Given the description of an element on the screen output the (x, y) to click on. 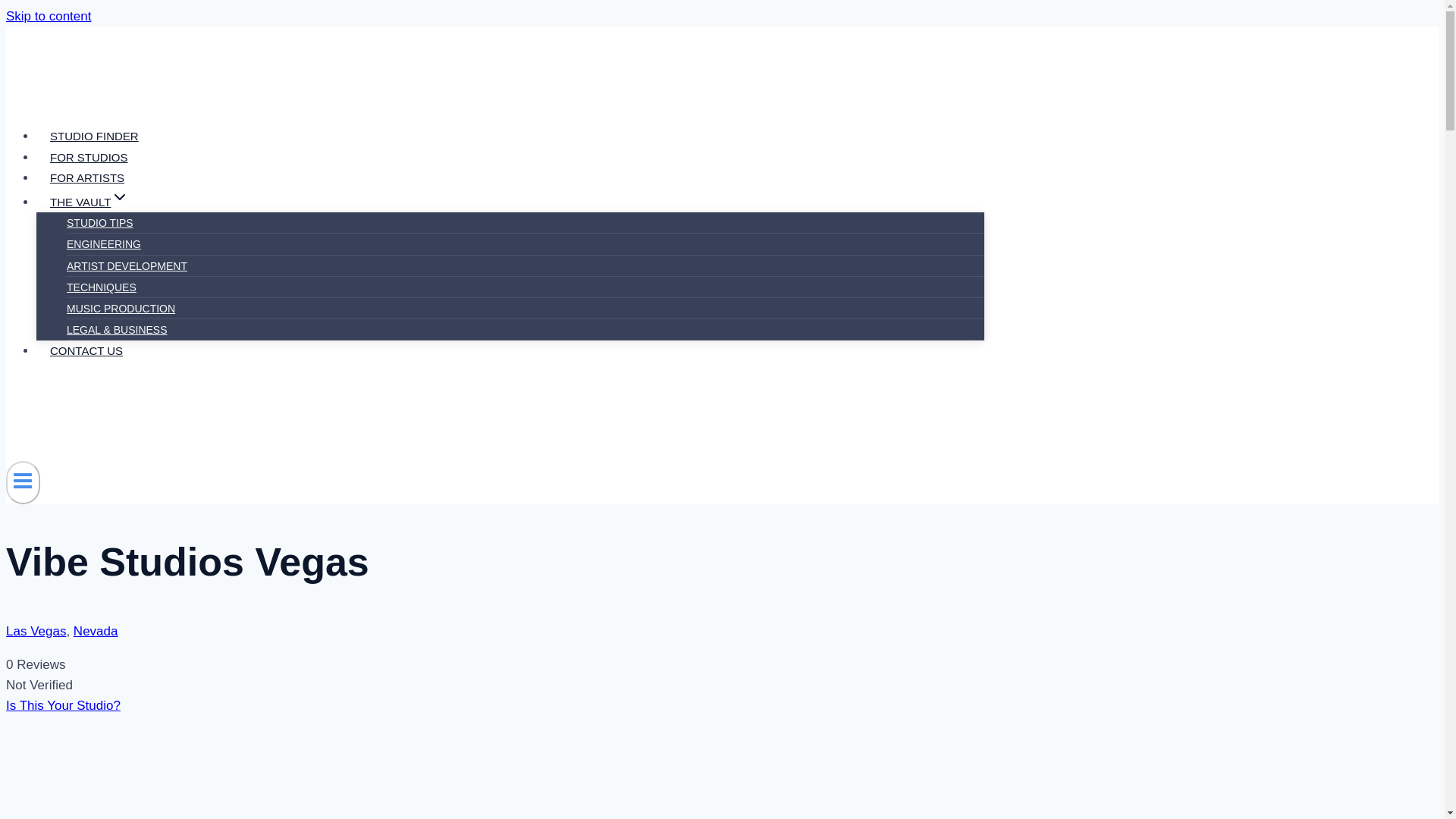
TECHNIQUES (101, 287)
Nevada (95, 631)
Skip to content (47, 16)
THE VAULTEXPAND (89, 201)
ARTIST DEVELOPMENT (126, 264)
Toggle Menu (22, 480)
Las Vegas (35, 631)
FOR ARTISTS (87, 177)
STUDIO TIPS (99, 222)
STUDIO FINDER (94, 135)
Is This Your Studio? (62, 705)
MUSIC PRODUCTION (120, 308)
ENGINEERING (103, 244)
Skip to content (47, 16)
FOR STUDIOS (88, 157)
